Given the description of an element on the screen output the (x, y) to click on. 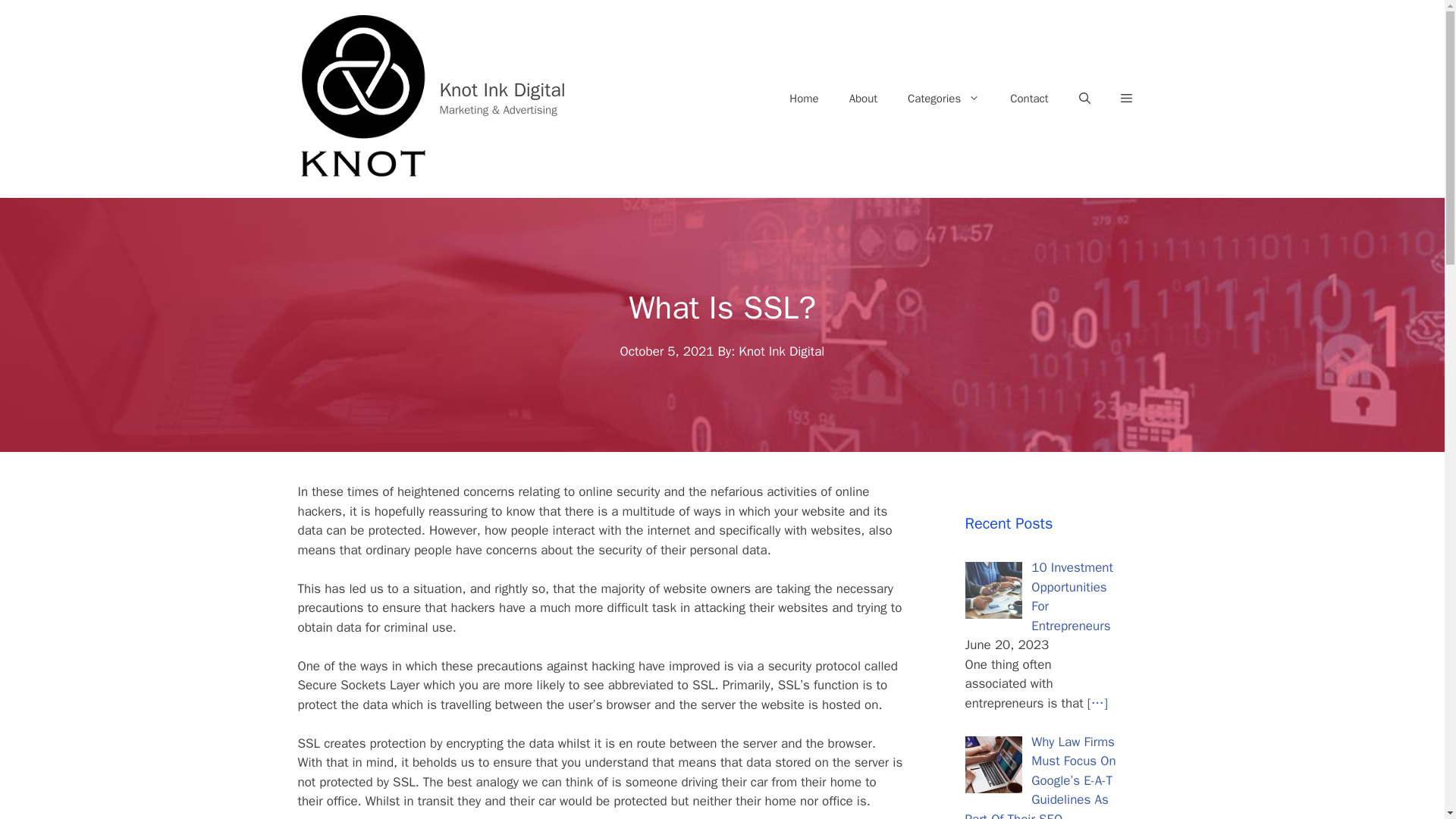
About (863, 98)
Knot Ink Digital (502, 88)
Contact (1028, 98)
Categories (943, 98)
Home (803, 98)
